Given the description of an element on the screen output the (x, y) to click on. 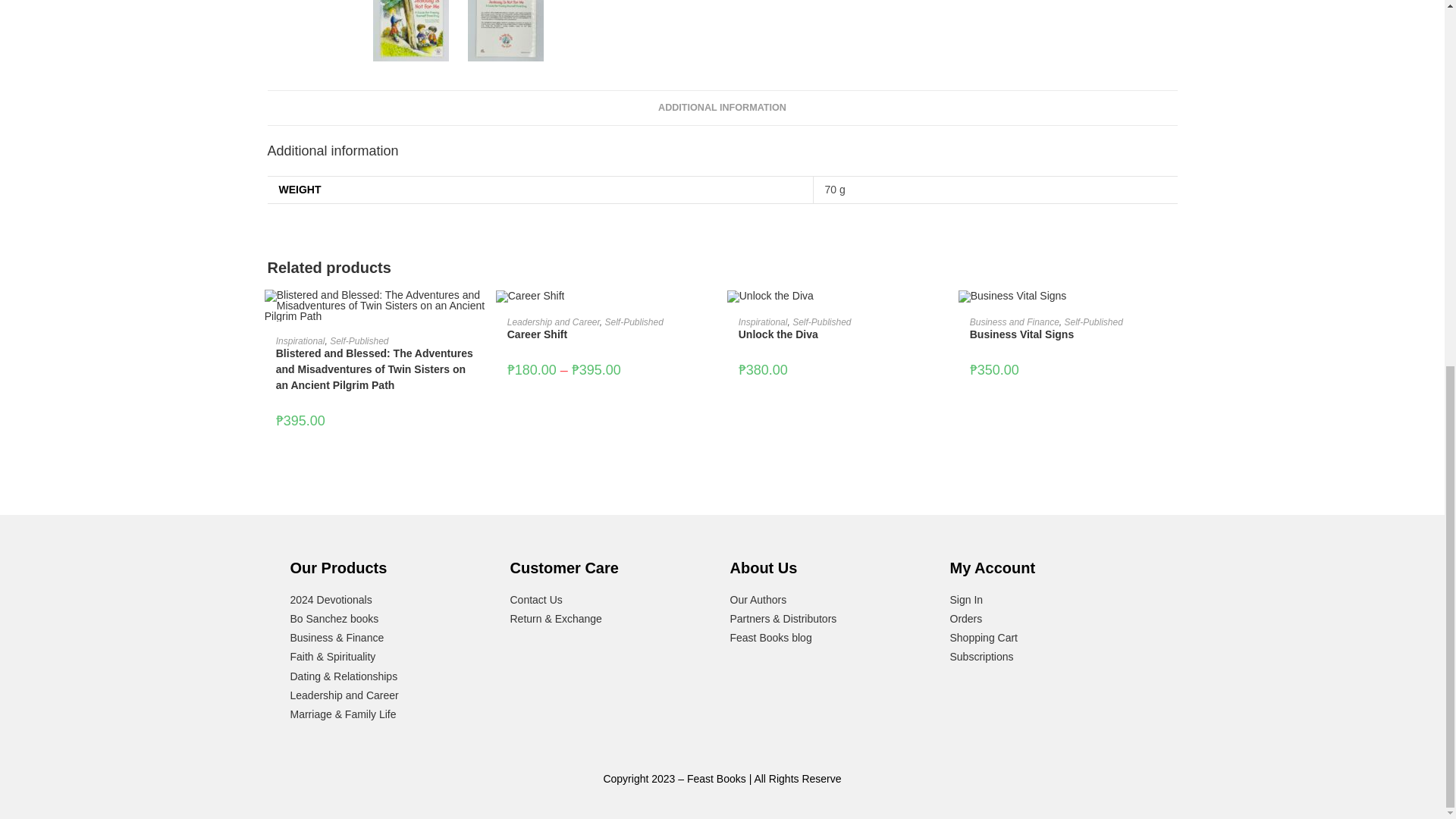
Jealousy is not for me BACK.JPG (505, 30)
Jealousy is not for Me FRONT.JPG (410, 30)
